Given the description of an element on the screen output the (x, y) to click on. 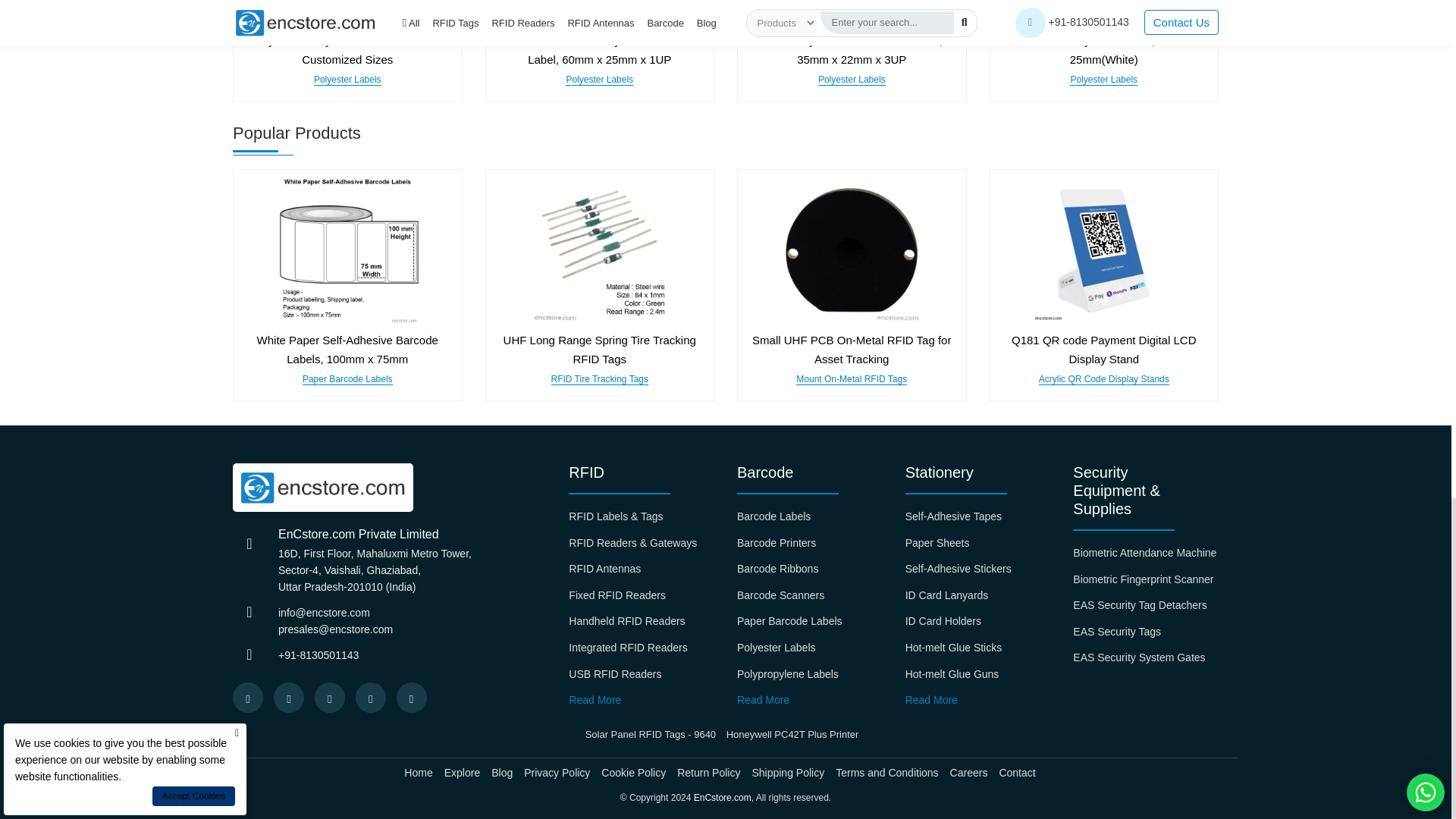
On-Metal RFID Tag for Asset Tracking (851, 249)
Submit (885, 133)
Q181 QRcode Payment Soundbox With Display Stand (1103, 249)
Polyester Labels (347, 15)
RFID Tire Tracking Tags (599, 249)
Polyester Labels (1103, 15)
Paper Barcode label (347, 249)
Polyester Labels (851, 15)
EnCstore.com Private Limited (322, 487)
Polyester Labels (599, 15)
